Given the description of an element on the screen output the (x, y) to click on. 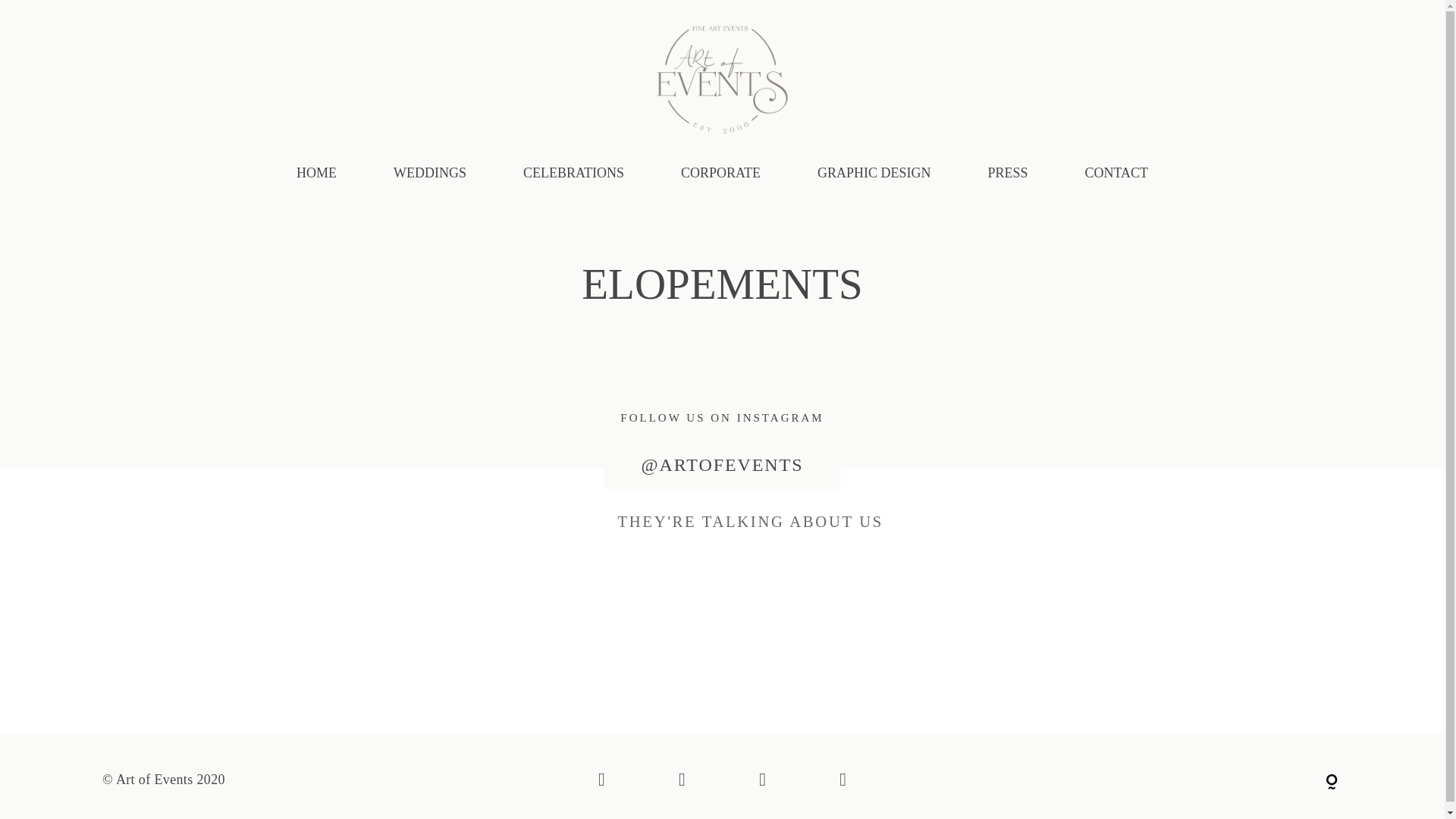
HOME Element type: text (316, 173)
CELEBRATIONS Element type: text (573, 173)
@ARTOFEVENTS Element type: text (721, 465)
CONTACT Element type: text (1116, 173)
PRESS Element type: text (1007, 173)
Sorry, your browser does not support inline SVG. Element type: text (1135, 779)
WEDDINGS Element type: text (429, 173)
CORPORATE Element type: text (720, 173)
GRAPHIC DESIGN Element type: text (874, 173)
